Given the description of an element on the screen output the (x, y) to click on. 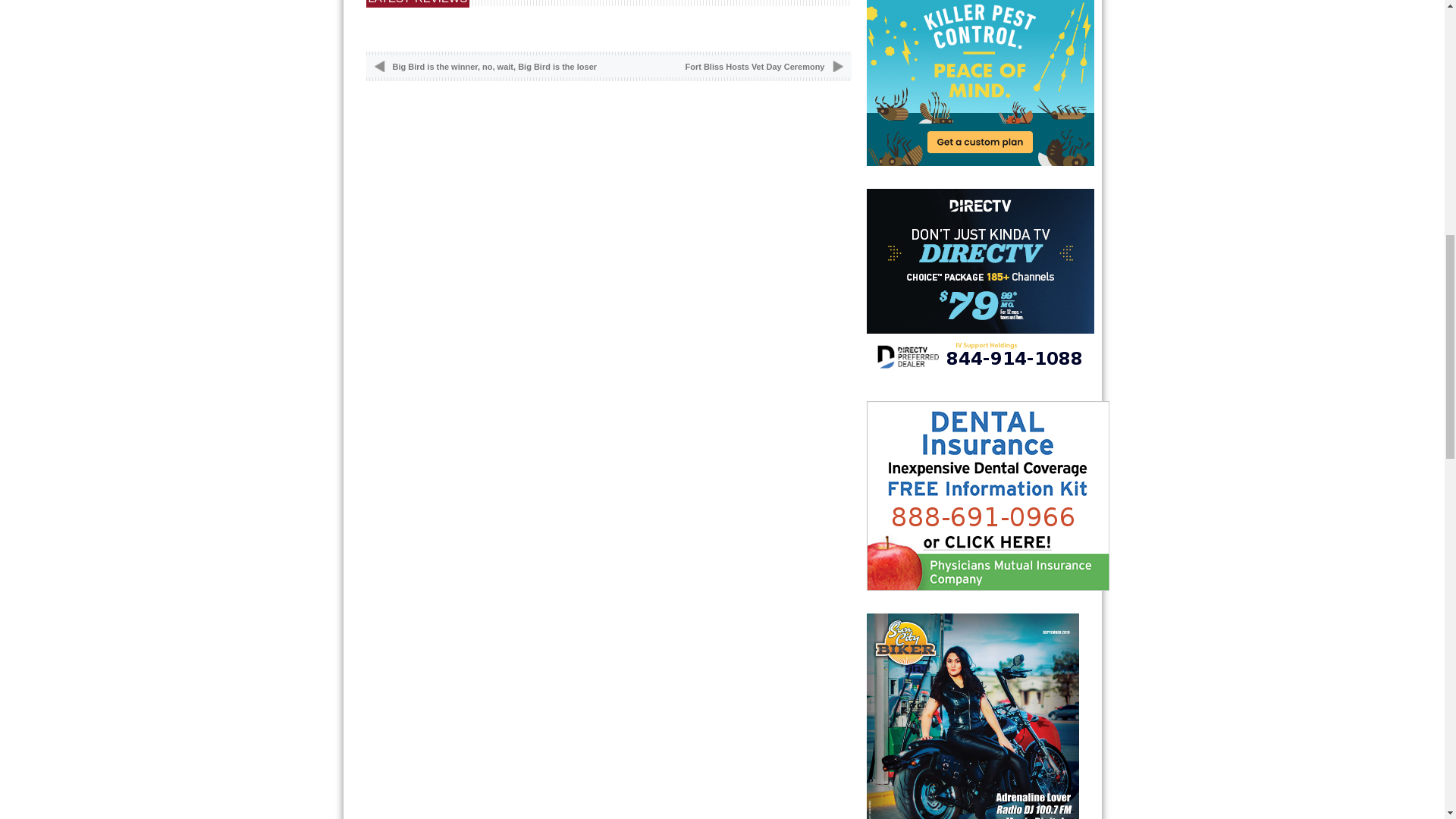
Fort Bliss Hosts Vet Day Ceremony (754, 66)
Big Bird is the winner, no, wait, Big Bird is the loser (493, 66)
